Given the description of an element on the screen output the (x, y) to click on. 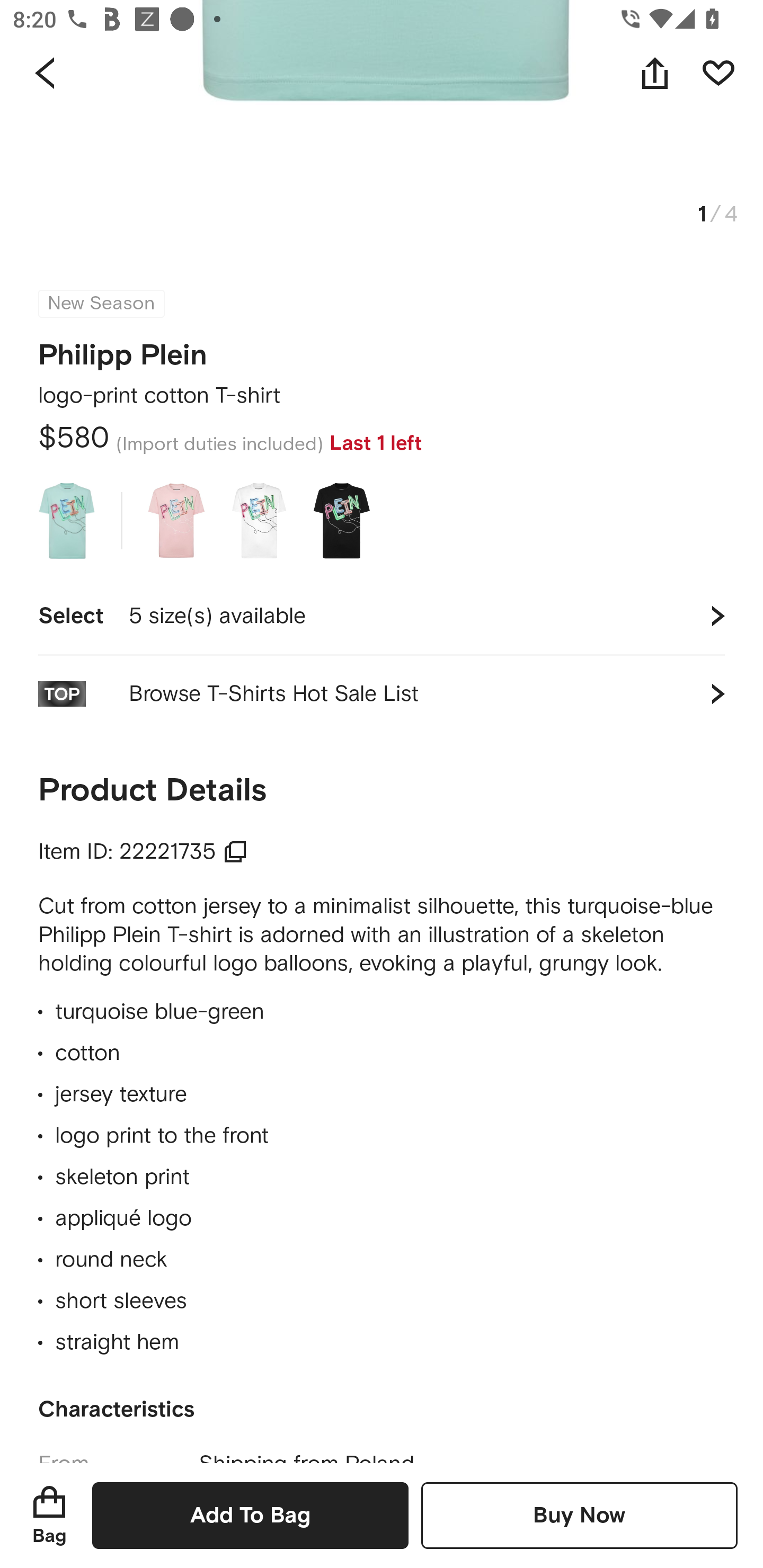
Philipp Plein (122, 349)
Select 5 size(s) available (381, 615)
Browse T-Shirts Hot Sale List (381, 693)
Item ID: 22221735 (142, 852)
Bag (49, 1515)
Add To Bag (250, 1515)
Buy Now (579, 1515)
